Given the description of an element on the screen output the (x, y) to click on. 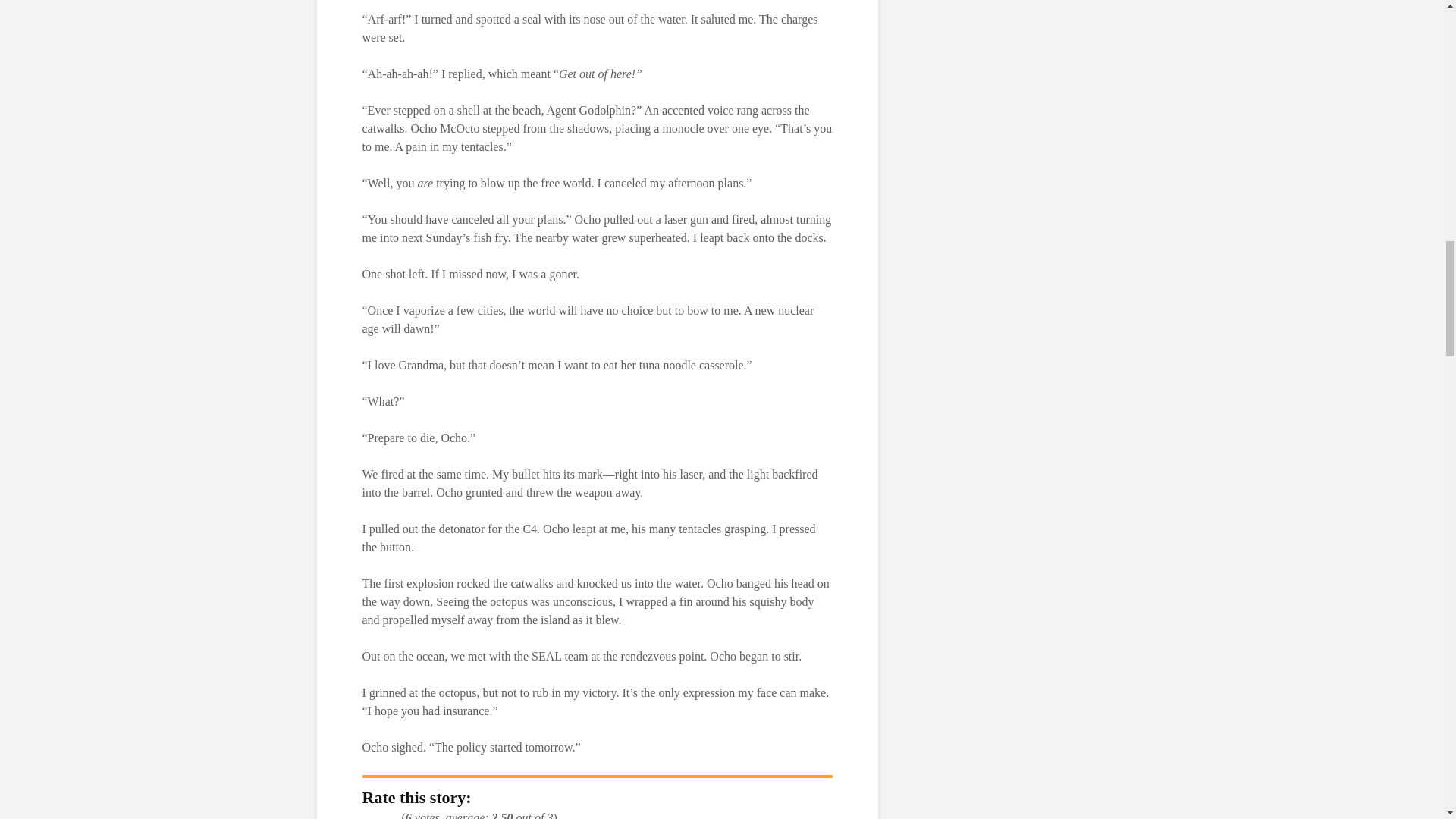
6 votes, average: 2.50 out of 3 (380, 816)
6 votes, average: 2.50 out of 3 (392, 816)
6 votes, average: 2.50 out of 3 (368, 816)
